Given the description of an element on the screen output the (x, y) to click on. 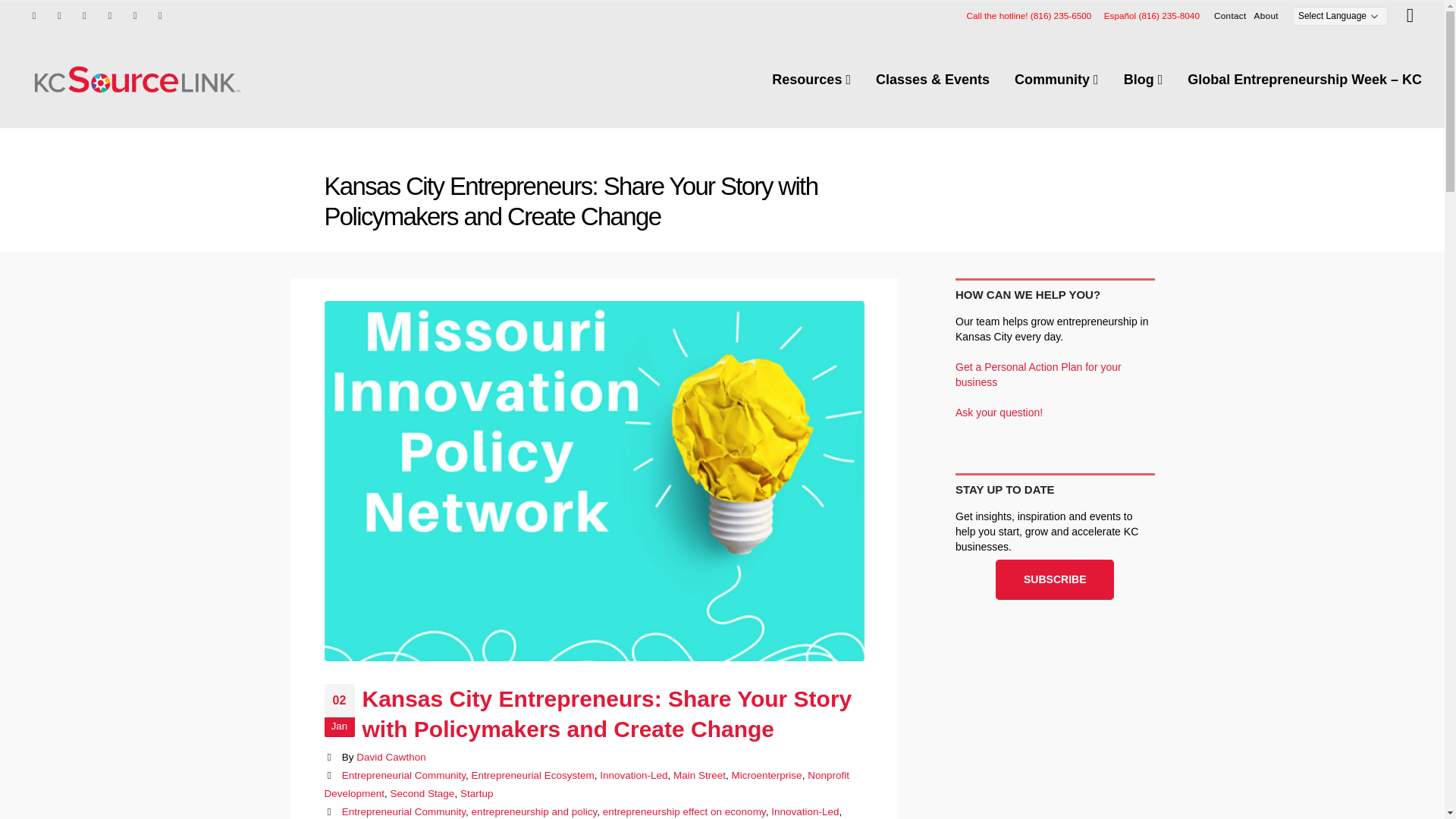
Blog (1143, 79)
KCSourceLink -  (136, 78)
LinkedIn (159, 15)
Contact (1229, 15)
Resources (811, 79)
Twitter (58, 15)
Community (1056, 79)
About (1266, 15)
Pinterest (109, 15)
Instagram (134, 15)
Facebook (34, 15)
RSS (85, 15)
